Given the description of an element on the screen output the (x, y) to click on. 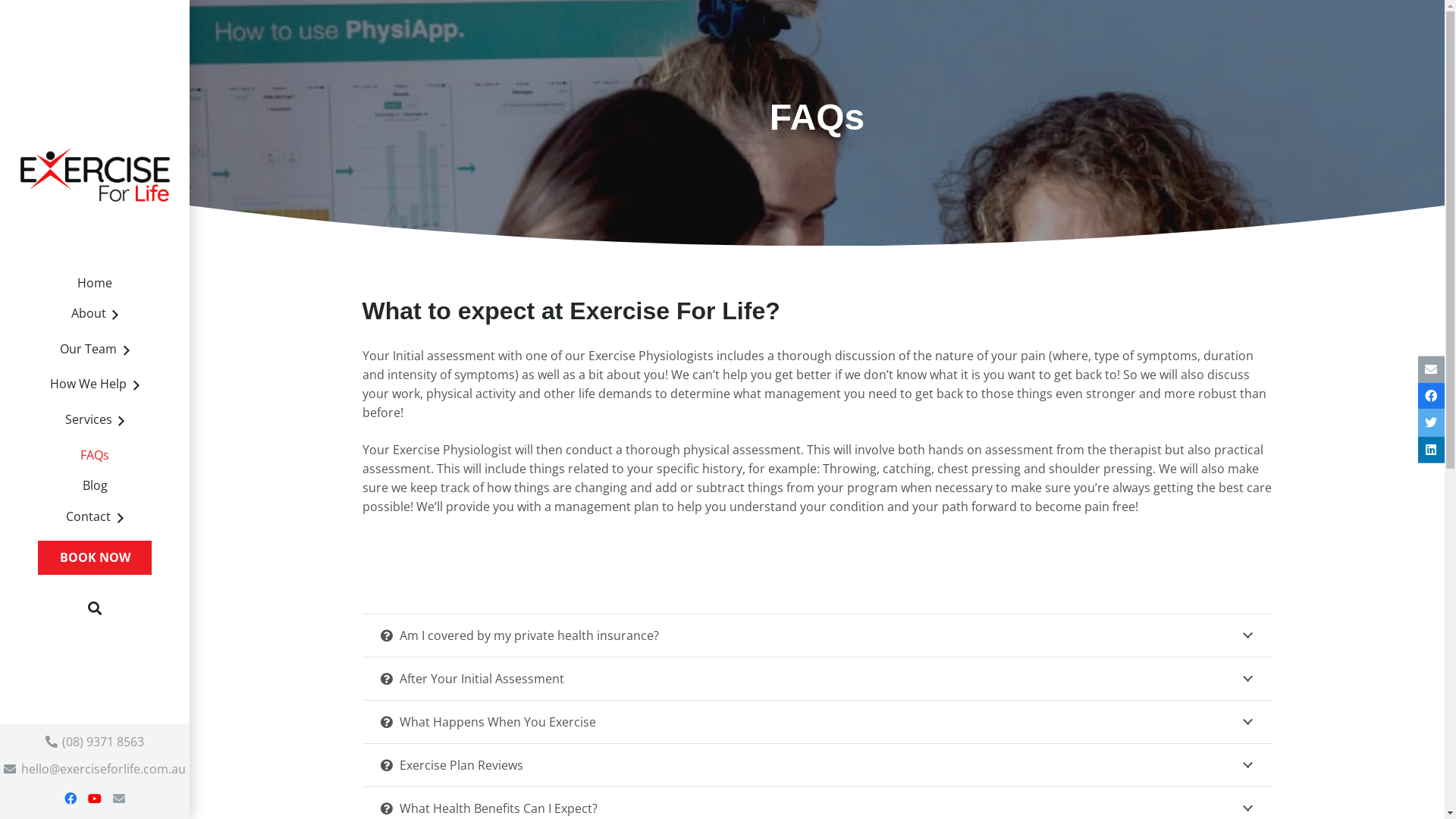
Email Element type: hover (118, 798)
How We Help Element type: text (94, 386)
Email this Element type: hover (1431, 369)
BOOK NOW Element type: text (94, 557)
Exercise Plan Reviews Element type: text (817, 764)
Home Element type: text (94, 282)
About Element type: text (94, 316)
What Happens When You Exercise Element type: text (817, 721)
Blog Element type: text (94, 486)
Am I covered by my private health insurance? Element type: text (817, 635)
Tweet this Element type: hover (1431, 422)
FAQs Element type: text (94, 454)
Facebook Element type: hover (70, 798)
Share this Element type: hover (1431, 449)
hello@exerciseforlife.com.au Element type: text (94, 768)
YouTube Element type: hover (94, 798)
Contact Element type: text (94, 518)
Share this Element type: hover (1431, 395)
Services Element type: text (94, 421)
Our Team Element type: text (94, 351)
After Your Initial Assessment Element type: text (817, 678)
(08) 9371 8563 Element type: text (94, 741)
